Given the description of an element on the screen output the (x, y) to click on. 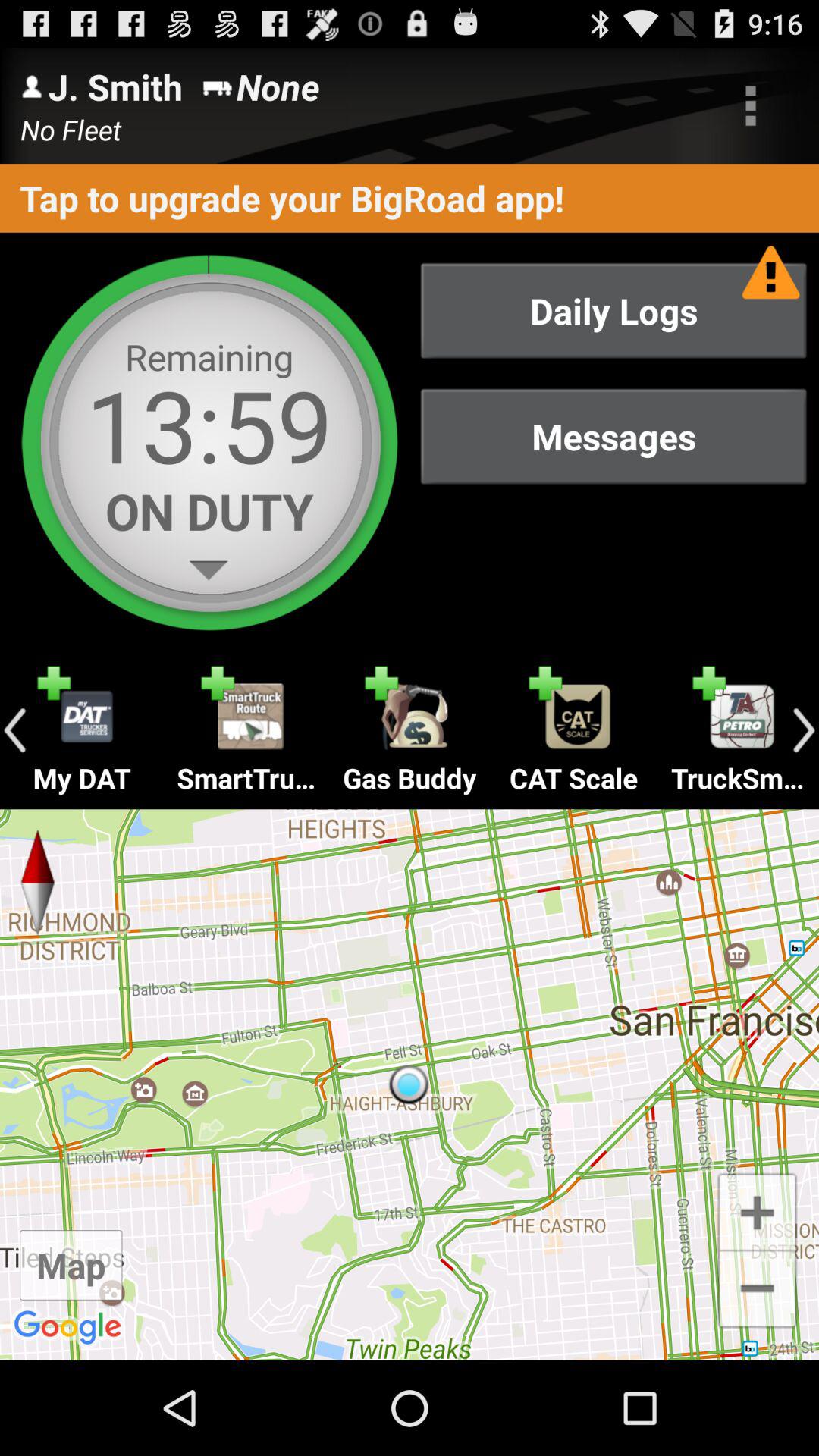
turn off item below the daily logs item (613, 436)
